Given the description of an element on the screen output the (x, y) to click on. 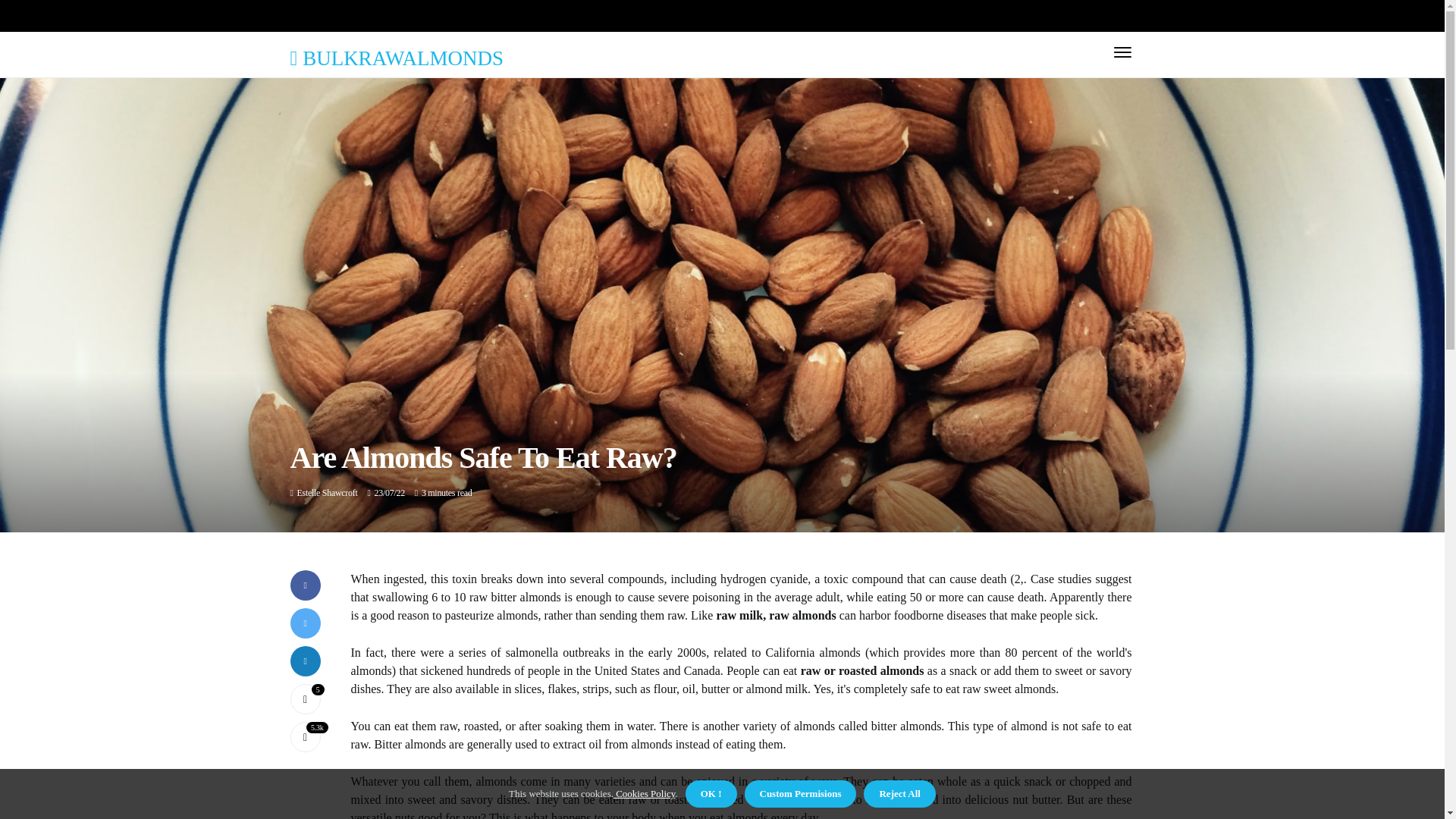
Estelle Shawcroft (327, 492)
5 (304, 698)
Like (304, 698)
BULKRAWALMONDS (395, 58)
Posts by Estelle Shawcroft (327, 492)
